Given the description of an element on the screen output the (x, y) to click on. 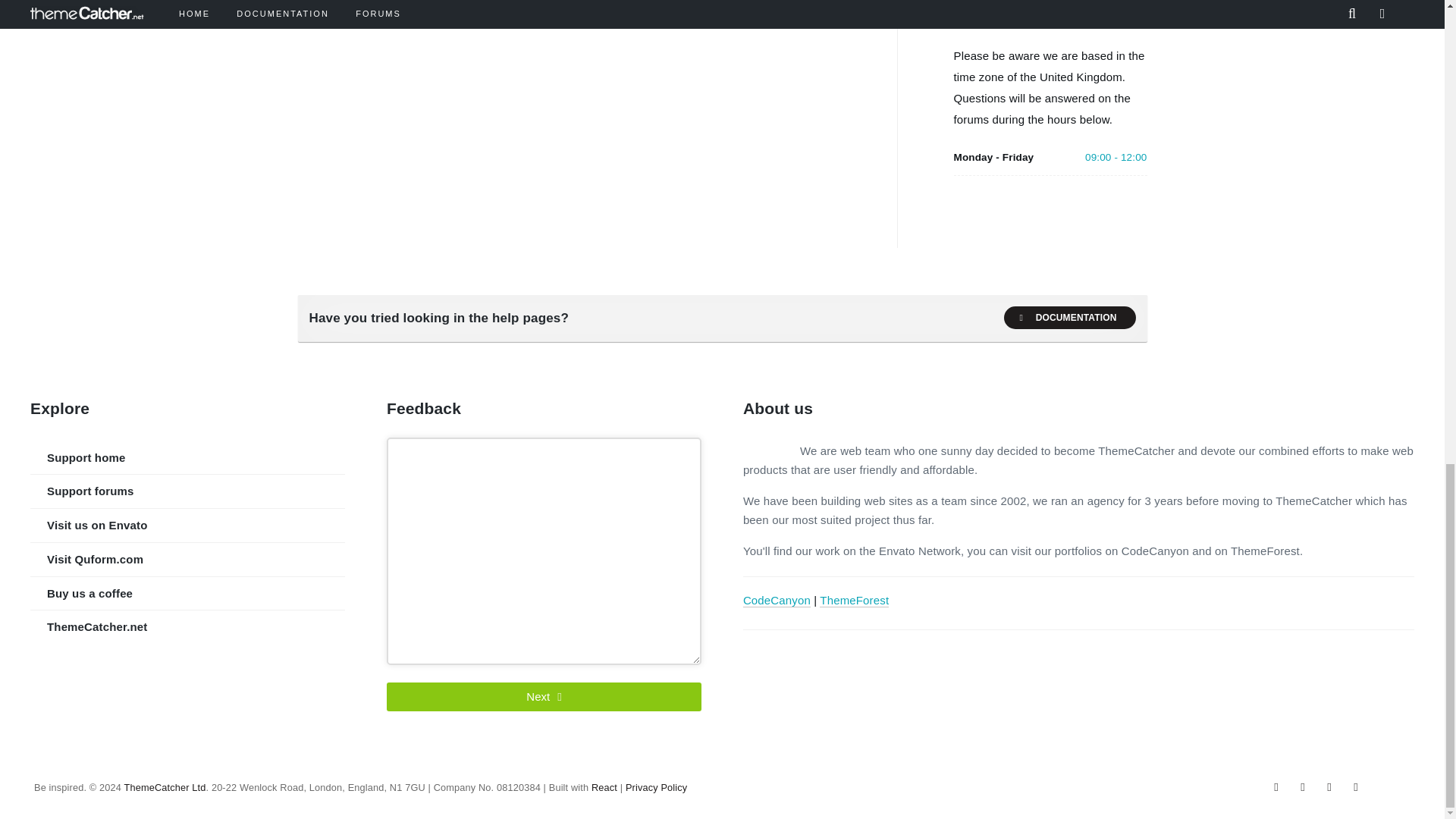
Facebook (1275, 786)
YouTube (1328, 786)
Instagram (1355, 786)
Twitter (1302, 786)
